Given the description of an element on the screen output the (x, y) to click on. 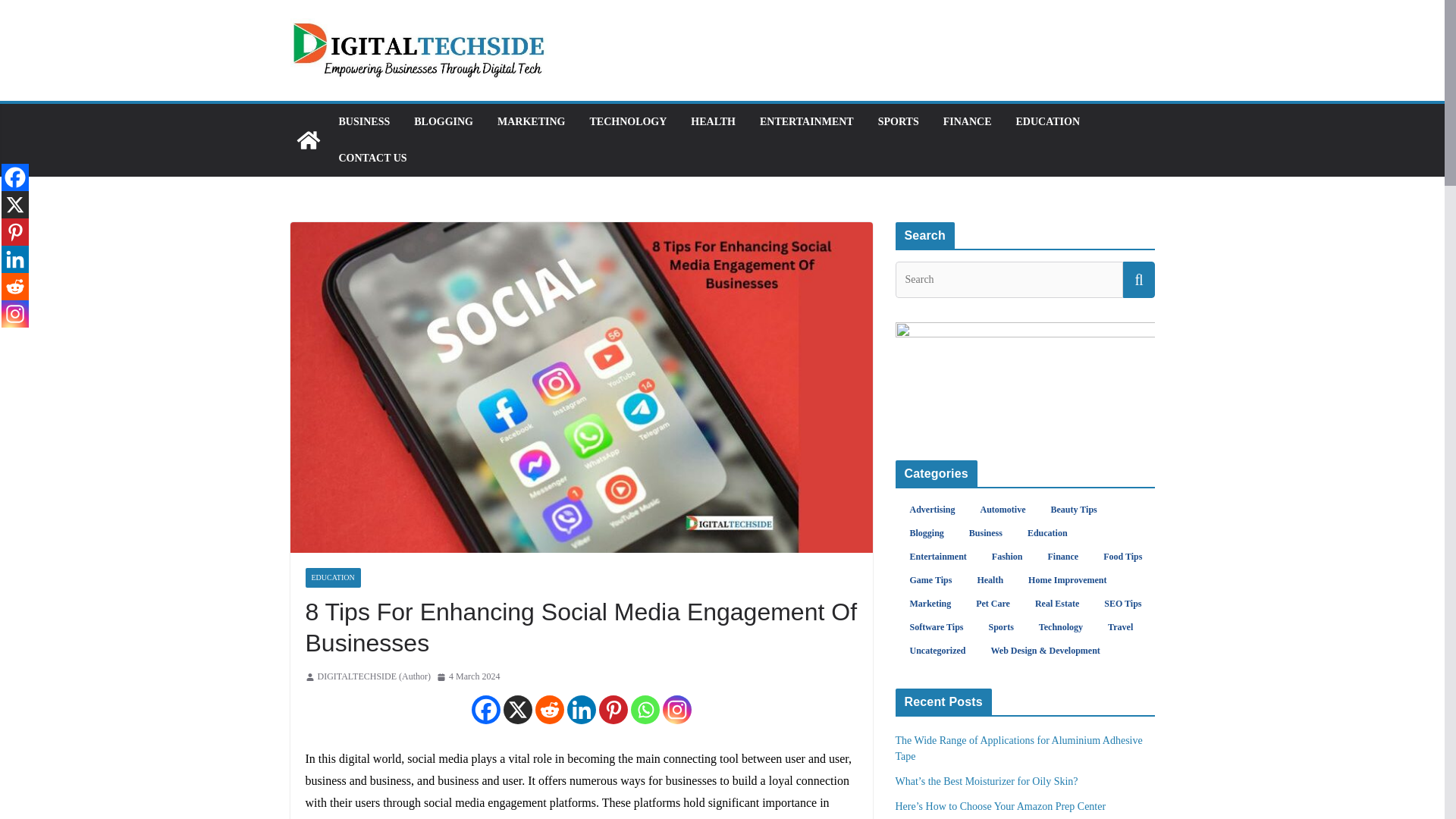
Facebook (15, 176)
EDUCATION (1047, 121)
FINANCE (967, 121)
ENTERTAINMENT (806, 121)
Facebook (485, 709)
DIGITALTECHSIDE (307, 140)
4 March 2024 (467, 677)
Whatsapp (644, 709)
Linkedin (581, 709)
BUSINESS (363, 121)
